Given the description of an element on the screen output the (x, y) to click on. 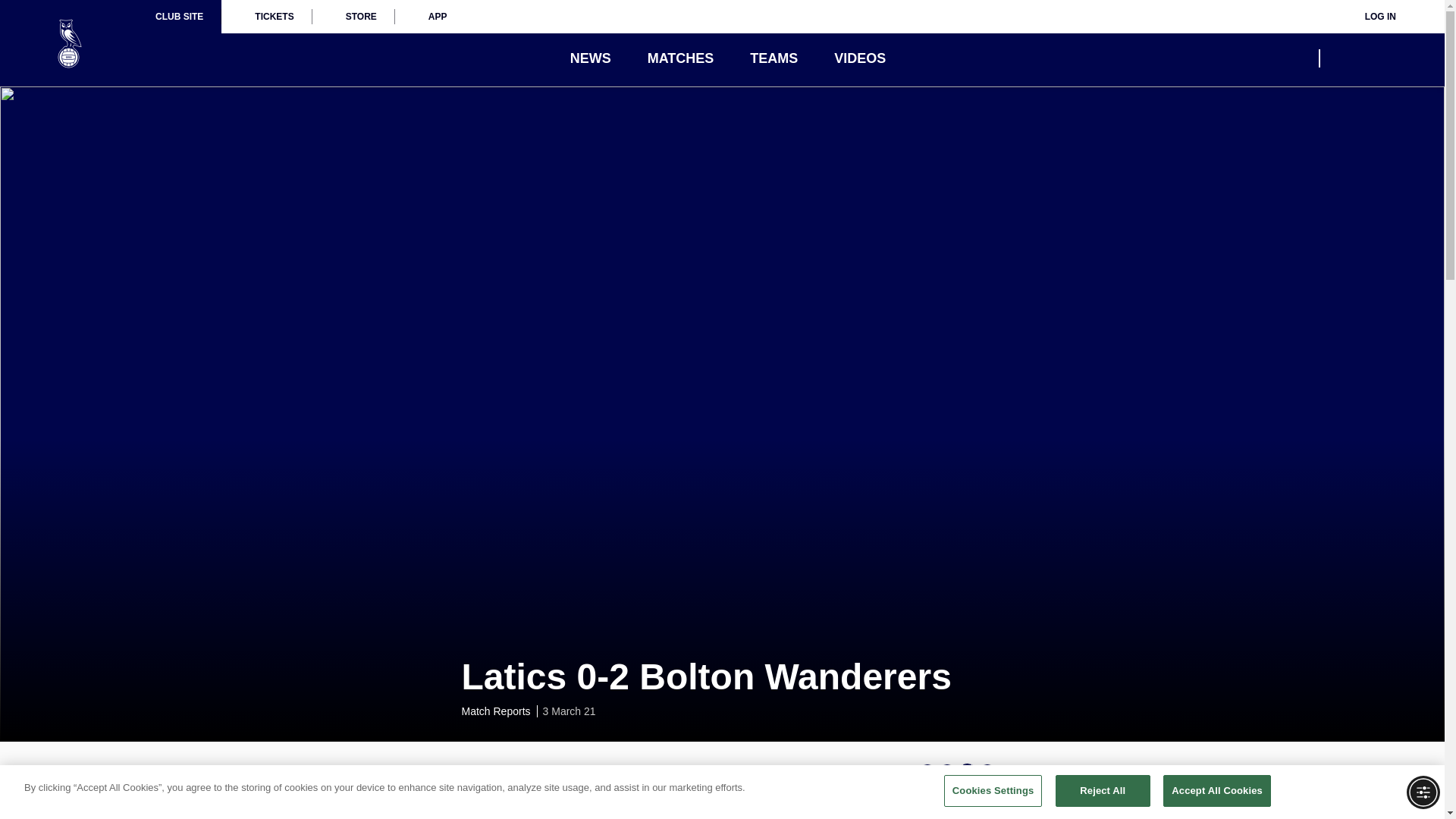
LOG IN (1369, 16)
STORE (353, 16)
VIDEOS (859, 58)
Cookies Settings (992, 790)
Accept All Cookies (1217, 790)
TICKETS (266, 16)
TEAMS (773, 58)
CLUB SITE (178, 16)
Accessibility Menu (1422, 792)
MATCHES (680, 58)
